Given the description of an element on the screen output the (x, y) to click on. 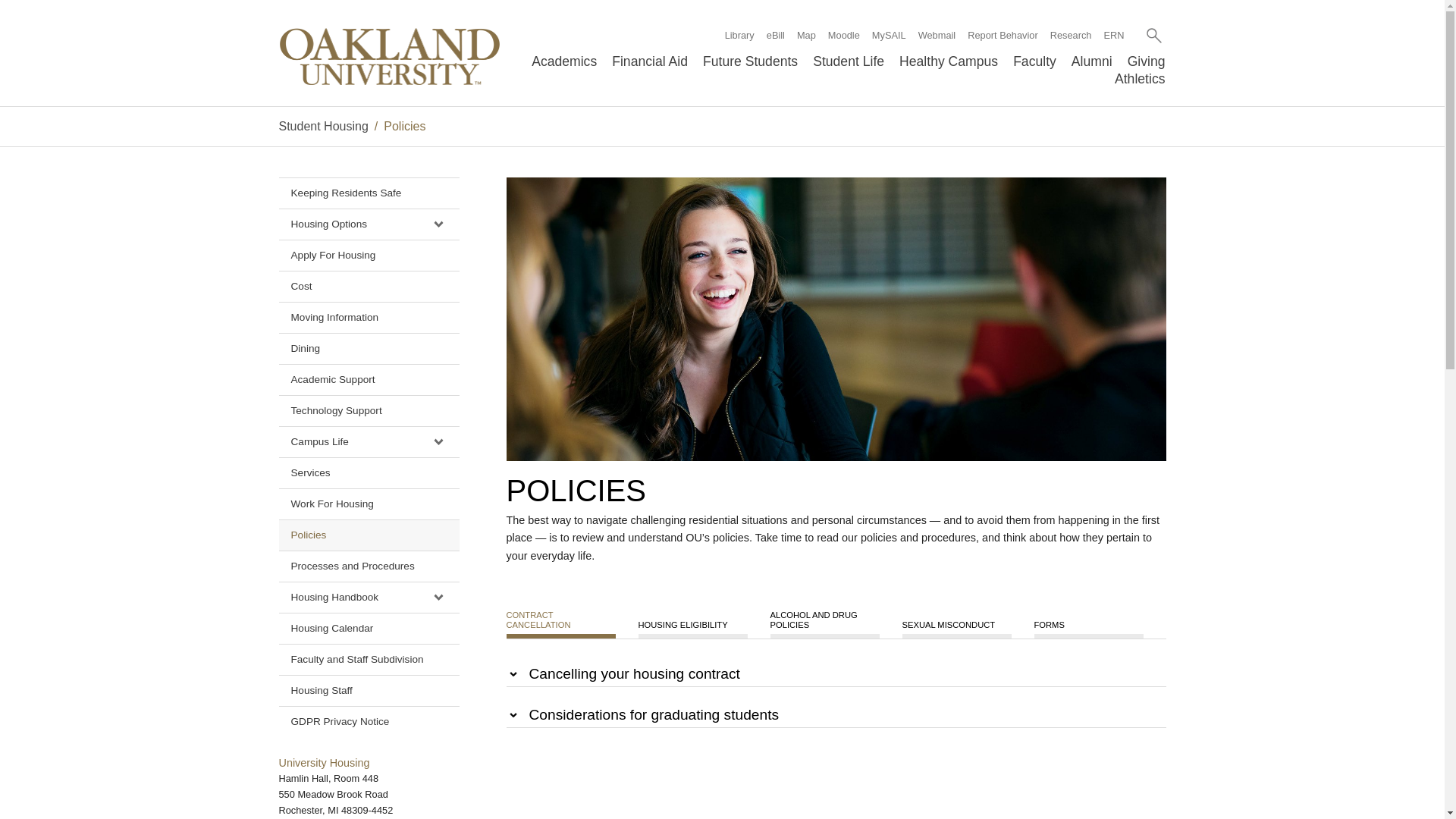
MySAIL (888, 34)
Report Behavior (1002, 34)
Webmail (937, 34)
Research (1070, 34)
Library (739, 34)
eBill (775, 34)
Academics (563, 61)
Moodle (844, 34)
Desktop Resource Menu (918, 35)
Map (805, 34)
ERN (1113, 34)
